Given the description of an element on the screen output the (x, y) to click on. 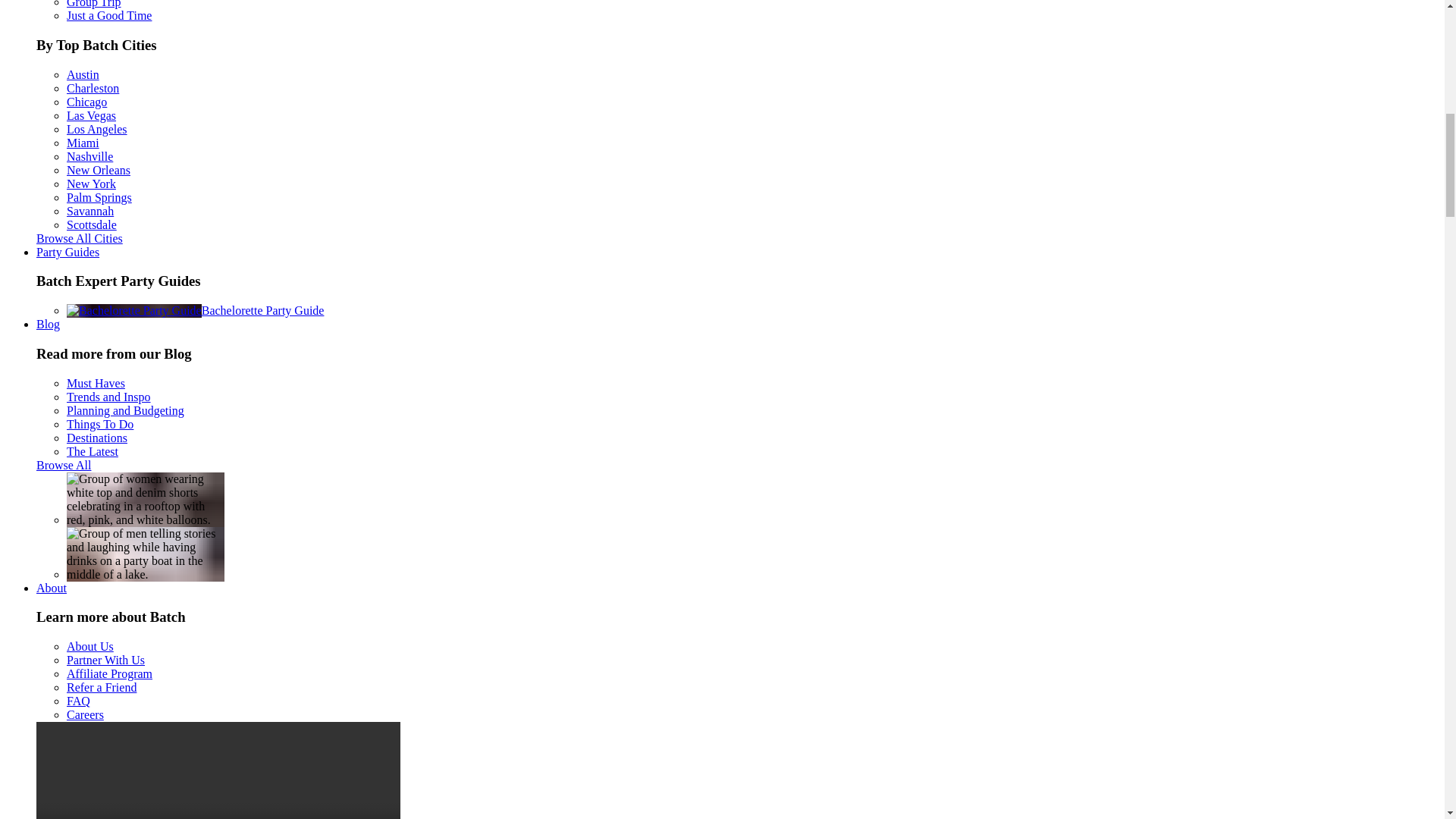
Chicago (86, 101)
Just a Good Time (108, 15)
Las Vegas (91, 115)
Miami (82, 142)
Blog (47, 323)
Browse All Cities (79, 237)
Trends and Inspo (108, 396)
Nashville (89, 155)
Savannah (89, 210)
New Orleans (98, 169)
